Given the description of an element on the screen output the (x, y) to click on. 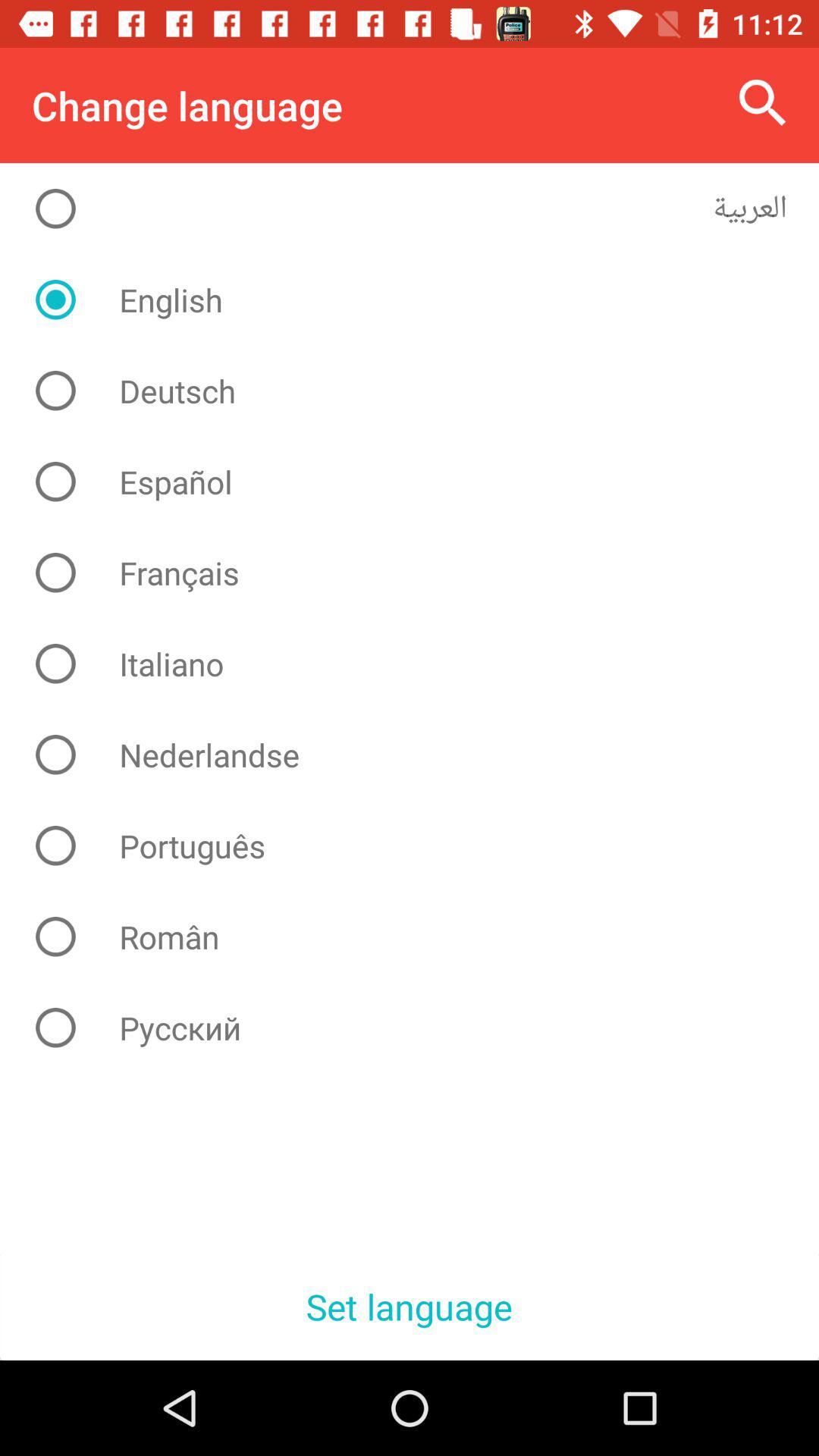
select item above the italiano (421, 572)
